Given the description of an element on the screen output the (x, y) to click on. 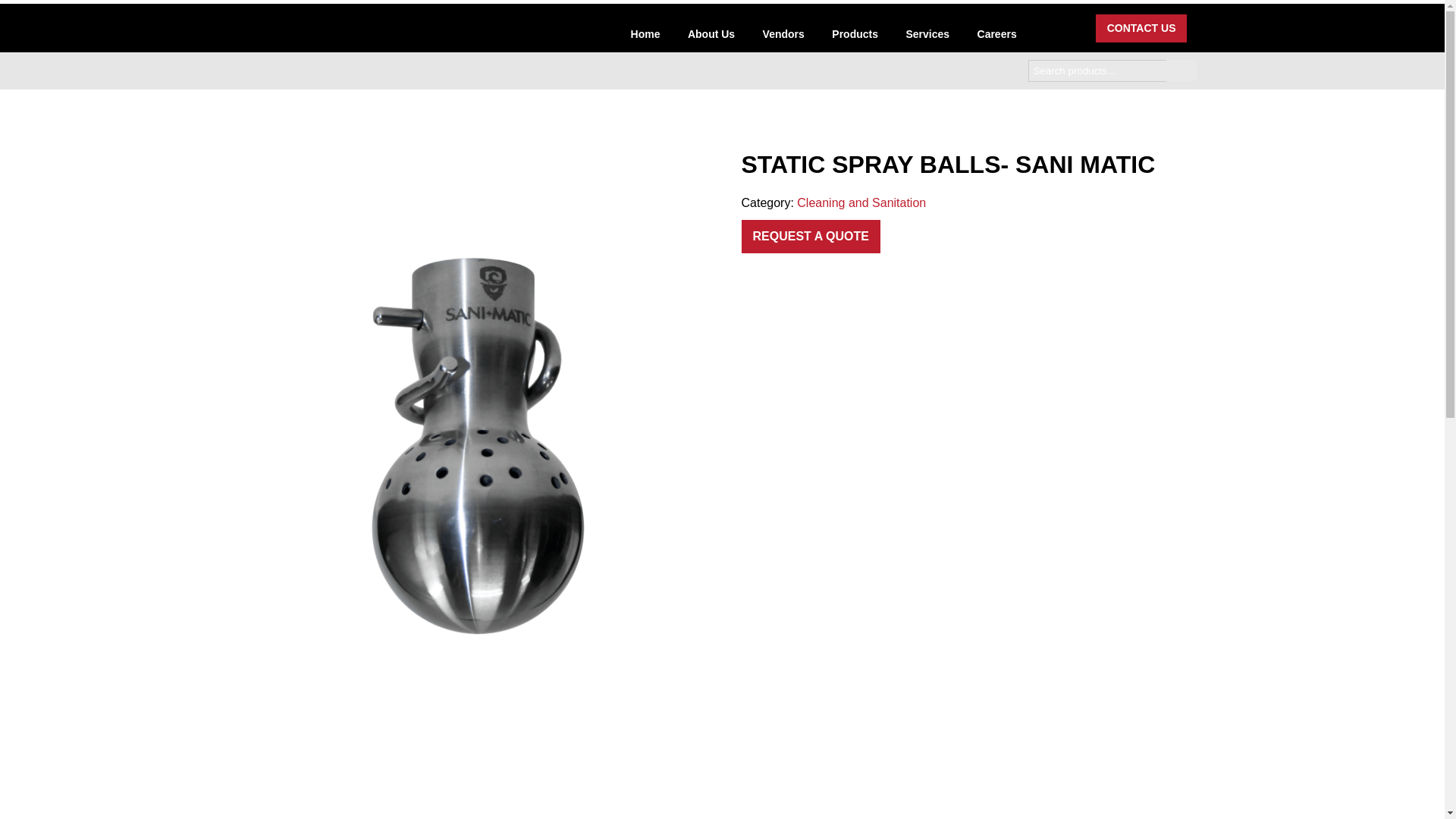
Cleaning and Sanitation (861, 202)
REQUEST A QUOTE (810, 236)
Services (927, 36)
Home (645, 36)
CONTACT US (1142, 27)
Products (854, 36)
Careers (997, 36)
SEARCH (1181, 70)
Vendors (783, 36)
About Us (711, 36)
